Given the description of an element on the screen output the (x, y) to click on. 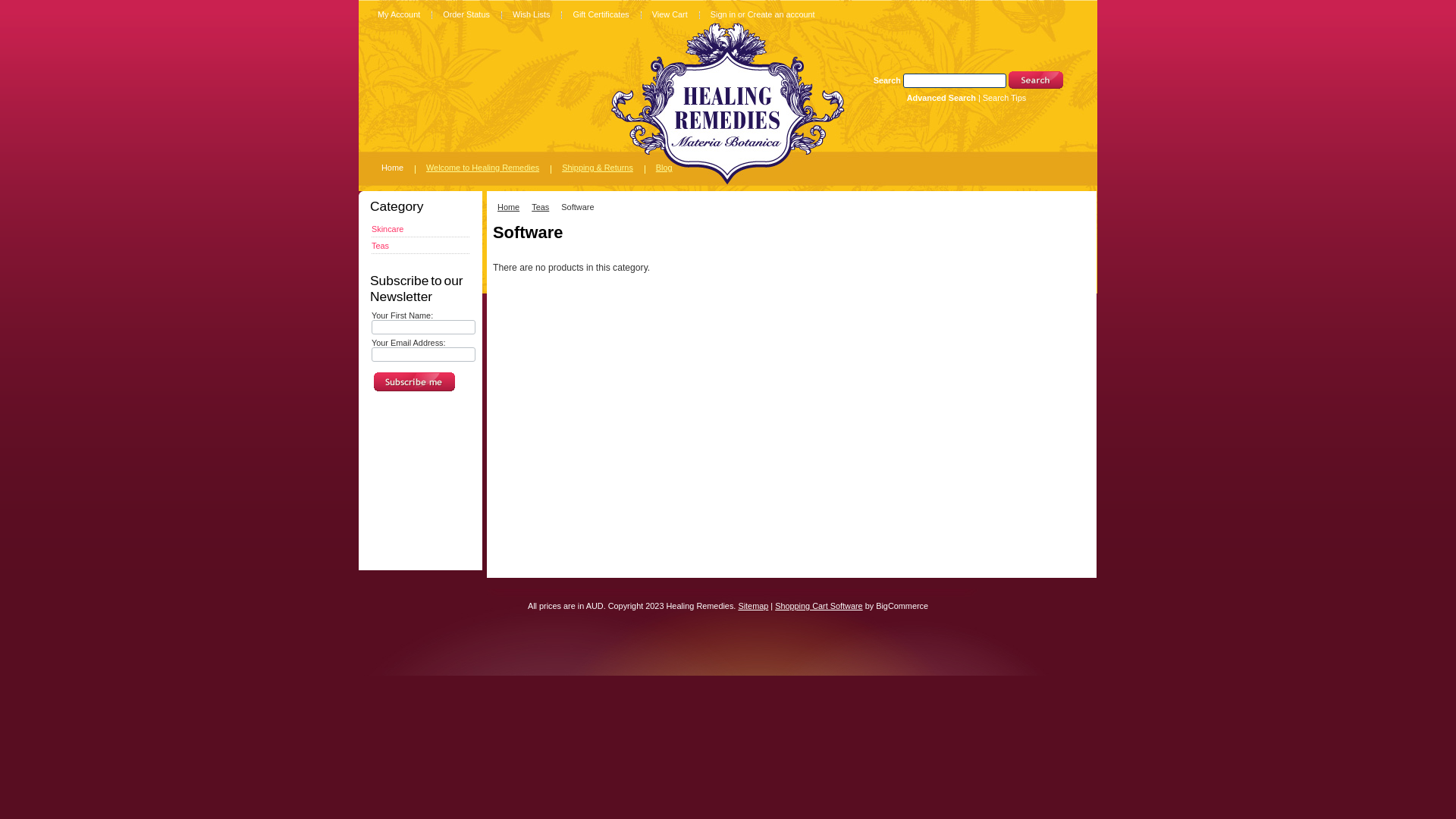
Search Tips Element type: text (1004, 97)
Order Status Element type: text (466, 13)
Shipping & Returns Element type: text (597, 166)
Sitemap Element type: text (752, 605)
My Account Element type: text (398, 13)
Home Element type: text (392, 166)
Skincare Element type: text (387, 228)
Gift Certificates Element type: text (600, 13)
Sign in Element type: text (722, 13)
Welcome to Healing Remedies Element type: text (482, 166)
View Cart Element type: text (669, 13)
Advanced Search Element type: text (940, 97)
Blog Element type: text (664, 166)
Shopping Cart Software Element type: text (818, 605)
Teas Element type: text (543, 206)
Wish Lists Element type: text (531, 13)
Create an account Element type: text (781, 13)
Teas Element type: text (380, 245)
Home Element type: text (512, 206)
